Given the description of an element on the screen output the (x, y) to click on. 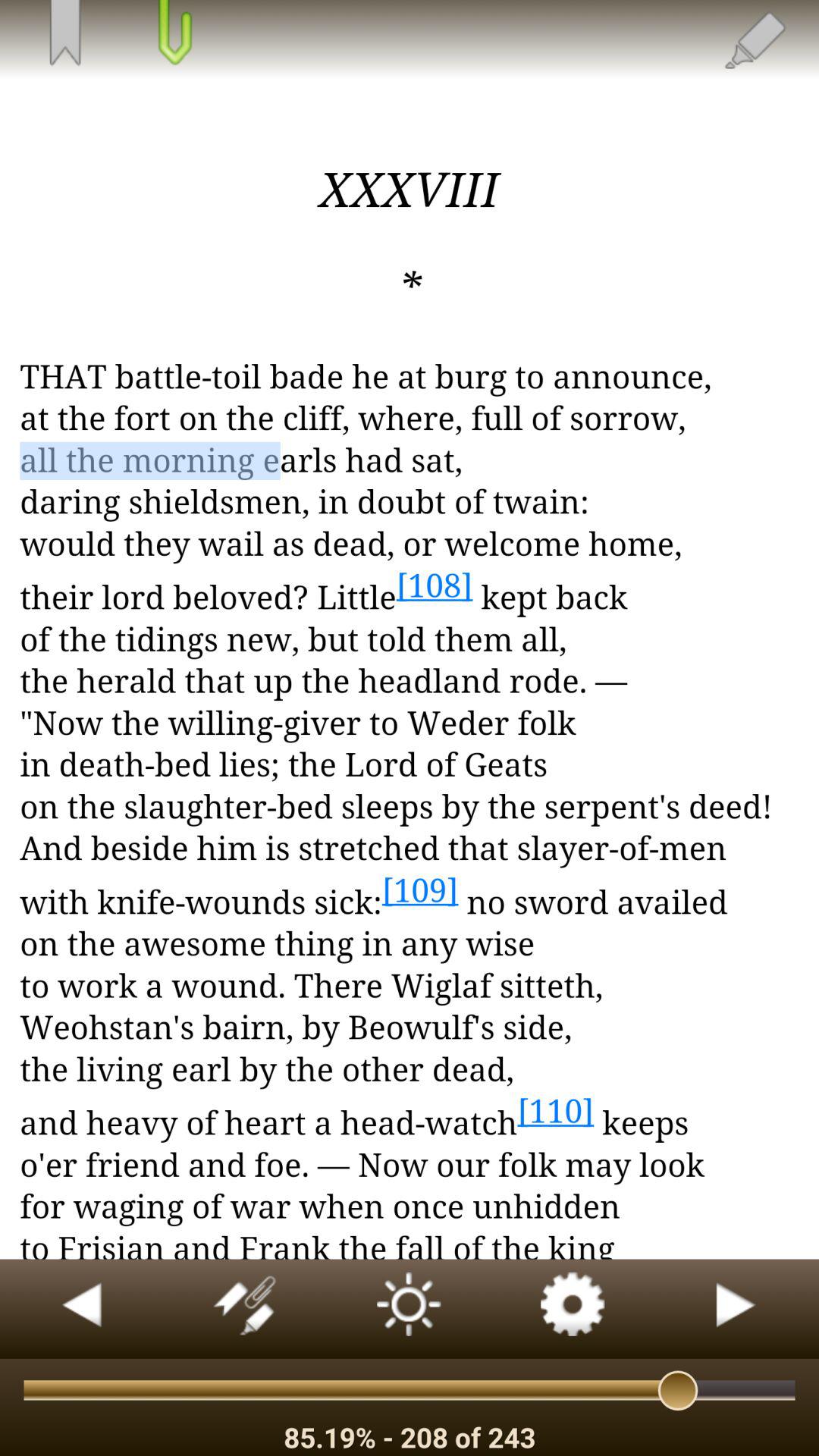
view settings (573, 1308)
